Given the description of an element on the screen output the (x, y) to click on. 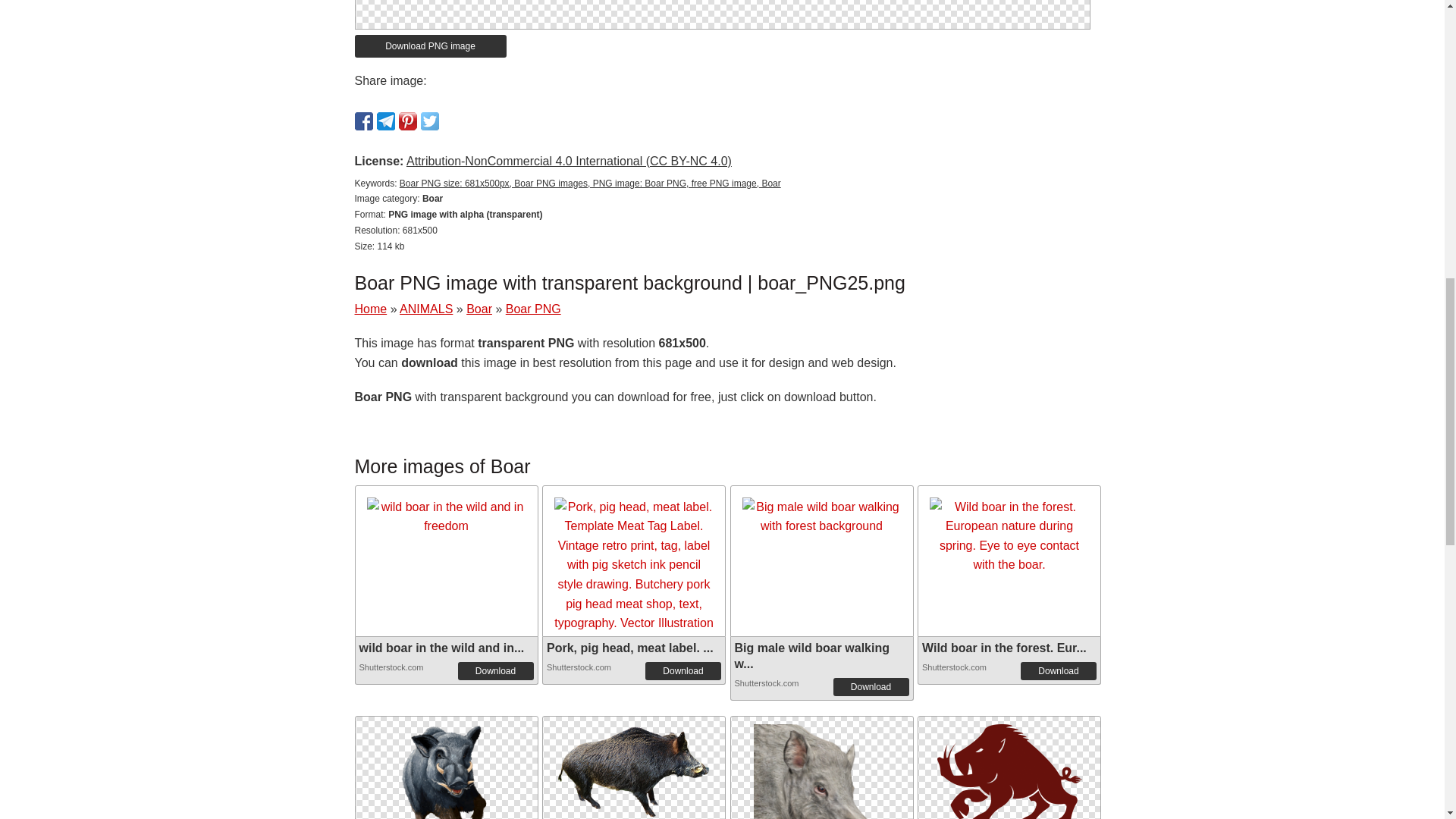
Tweet (429, 121)
Boar PNG (821, 788)
Download (870, 687)
Download (496, 670)
Boar PNG (445, 767)
Share in Telegram (384, 121)
Boar PNG (532, 308)
Boar PNG (633, 766)
Big male wild boar walking w... (810, 655)
wild boar in the wild and in freedom (445, 516)
Download (682, 670)
Big male wild boar walking with forest background (821, 516)
Pork, pig head, meat label. ... (630, 647)
